Given the description of an element on the screen output the (x, y) to click on. 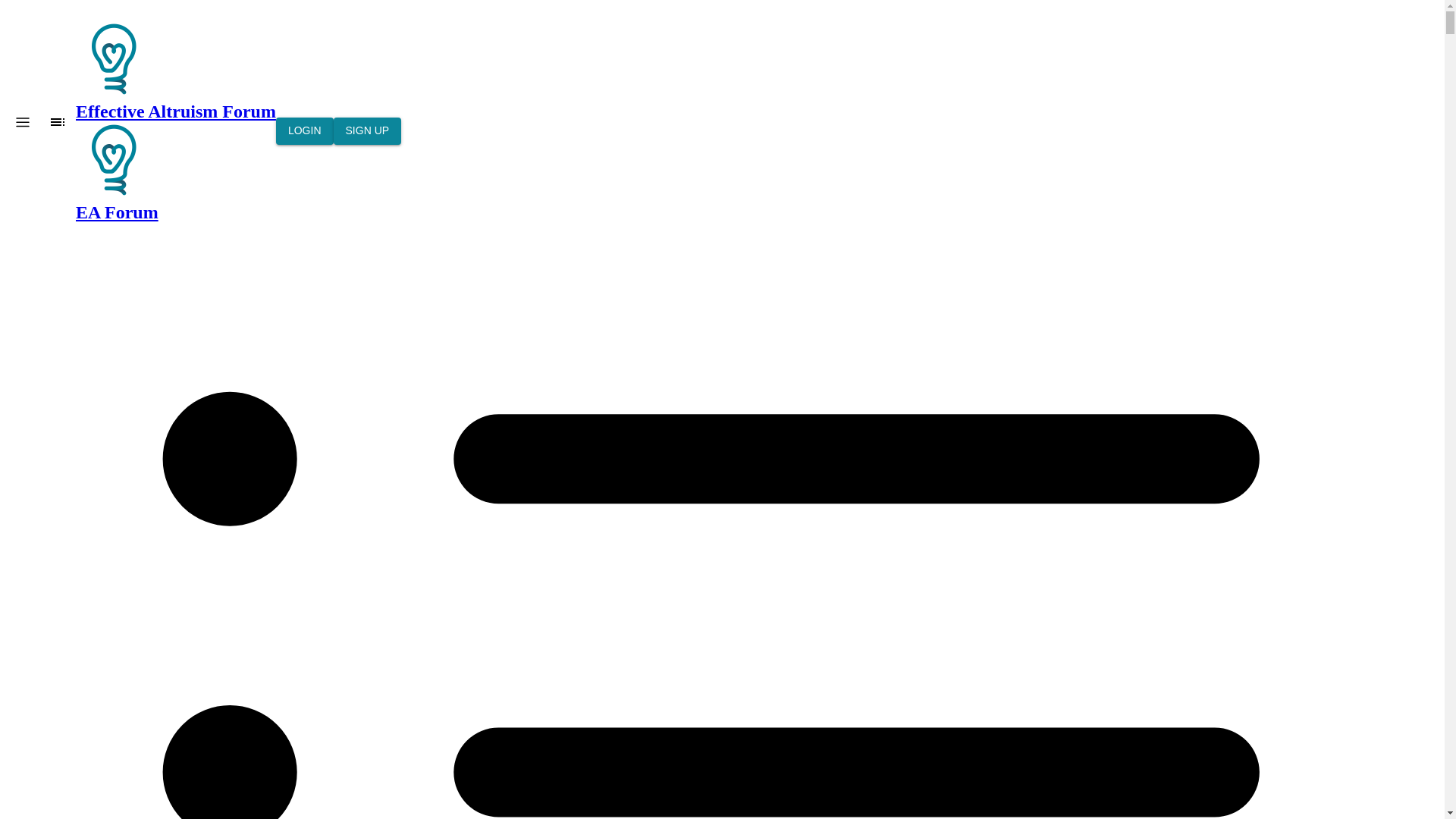
LOGIN (304, 130)
Effective Altruism Forum (113, 160)
Effective Altruism Forum (113, 59)
Effective Altruism Forum (175, 71)
SIGN UP (367, 130)
EA Forum (175, 171)
